Given the description of an element on the screen output the (x, y) to click on. 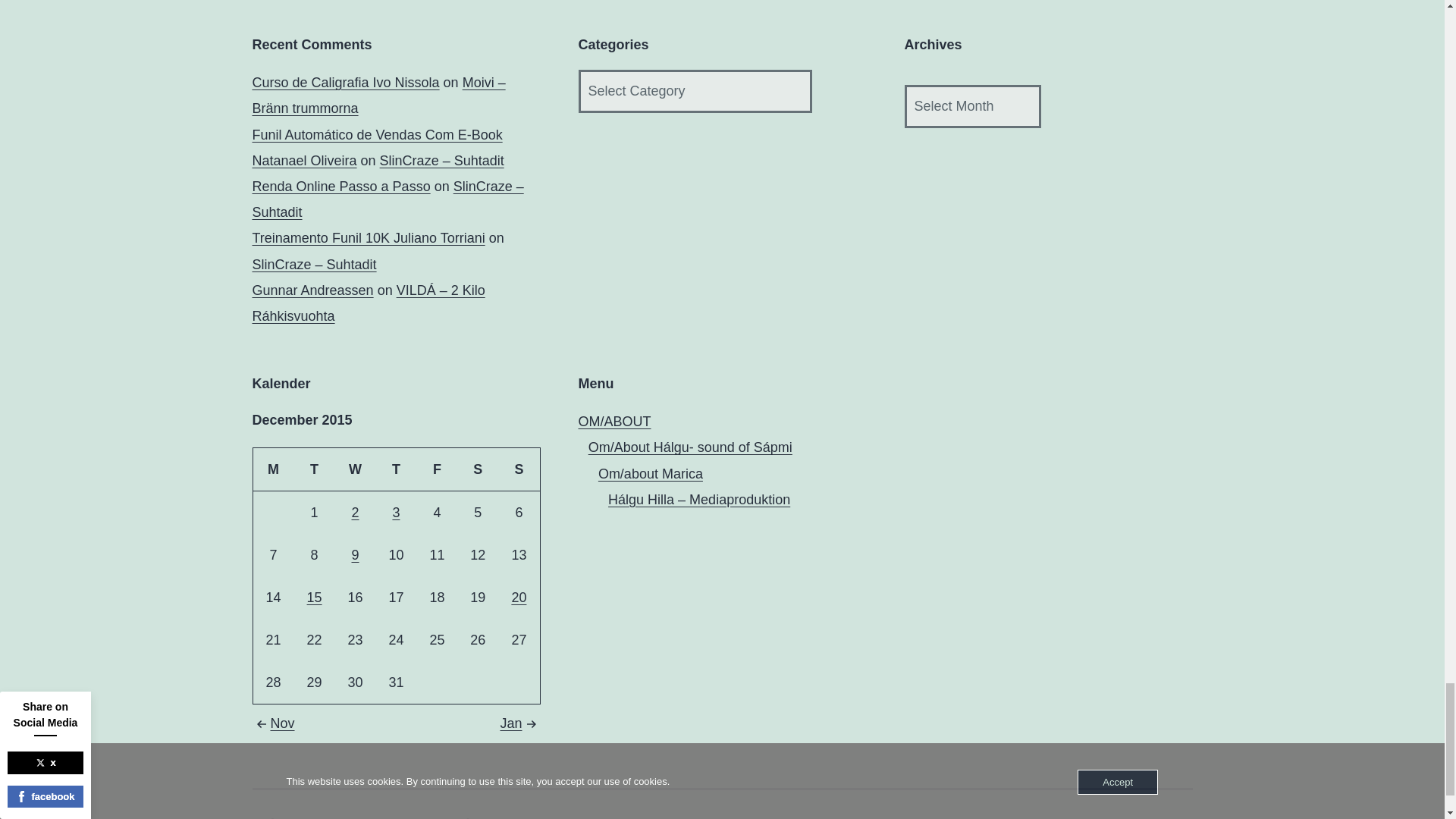
Tuesday (314, 468)
Wednesday (354, 468)
Thursday (395, 468)
Monday (272, 468)
Friday (436, 468)
